Given the description of an element on the screen output the (x, y) to click on. 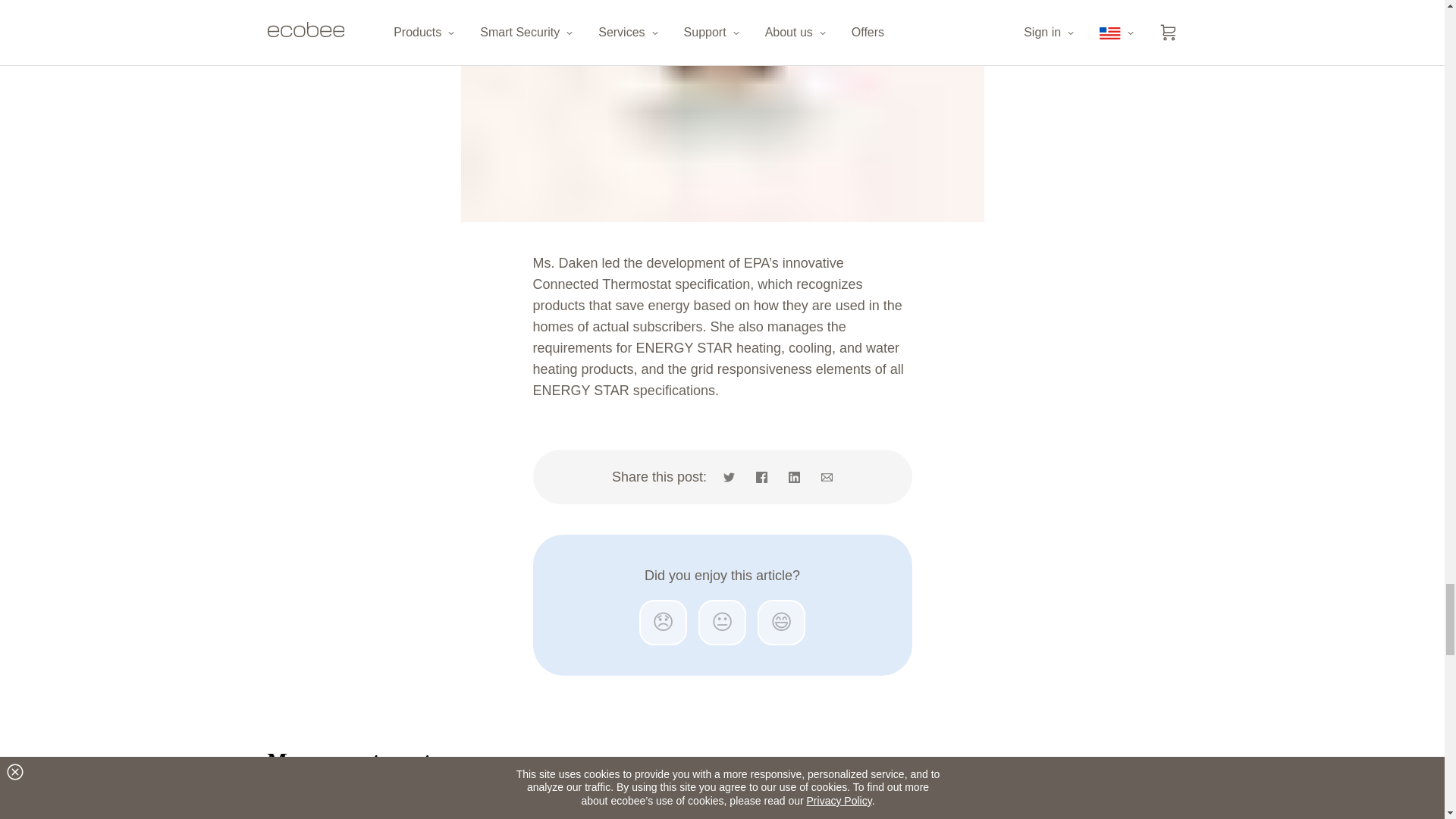
Share on Facebook (761, 476)
Share on LinkedIn (793, 476)
Share by email (821, 476)
Share on Twitter (734, 476)
